Given the description of an element on the screen output the (x, y) to click on. 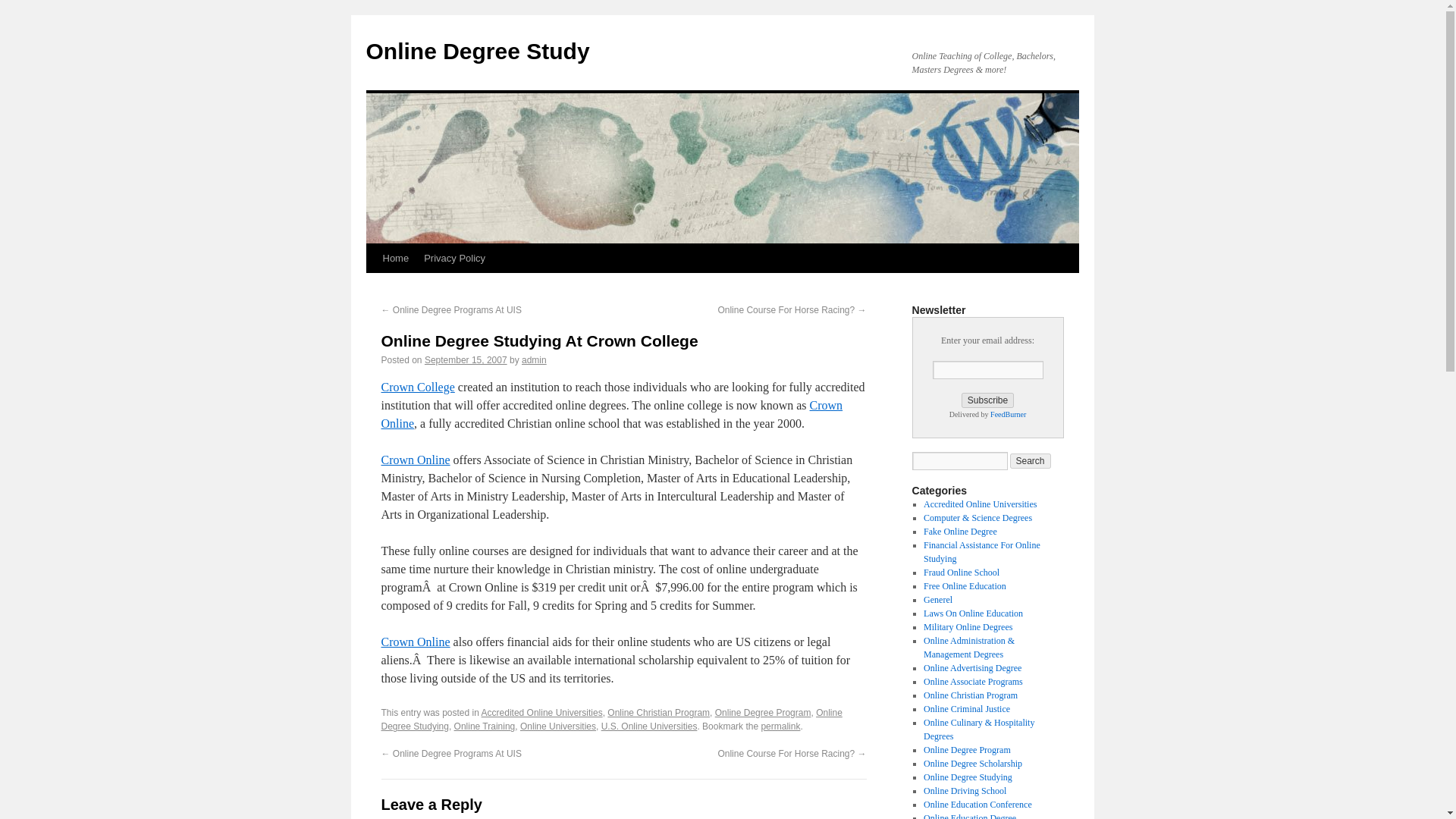
Online Degree Studying (610, 719)
Search (1030, 460)
Laws On Online Education (973, 613)
Subscribe (986, 400)
Home (395, 258)
September 15, 2007 (465, 359)
Online Christian Program (970, 695)
Permalink to Online Degree Studying At Crown College (779, 726)
FeedBurner (1008, 414)
Online Universities (557, 726)
Generel (937, 599)
Online Degree Study (477, 50)
Crown Online (611, 413)
Online Advertising Degree (972, 667)
Crown Online (414, 459)
